Given the description of an element on the screen output the (x, y) to click on. 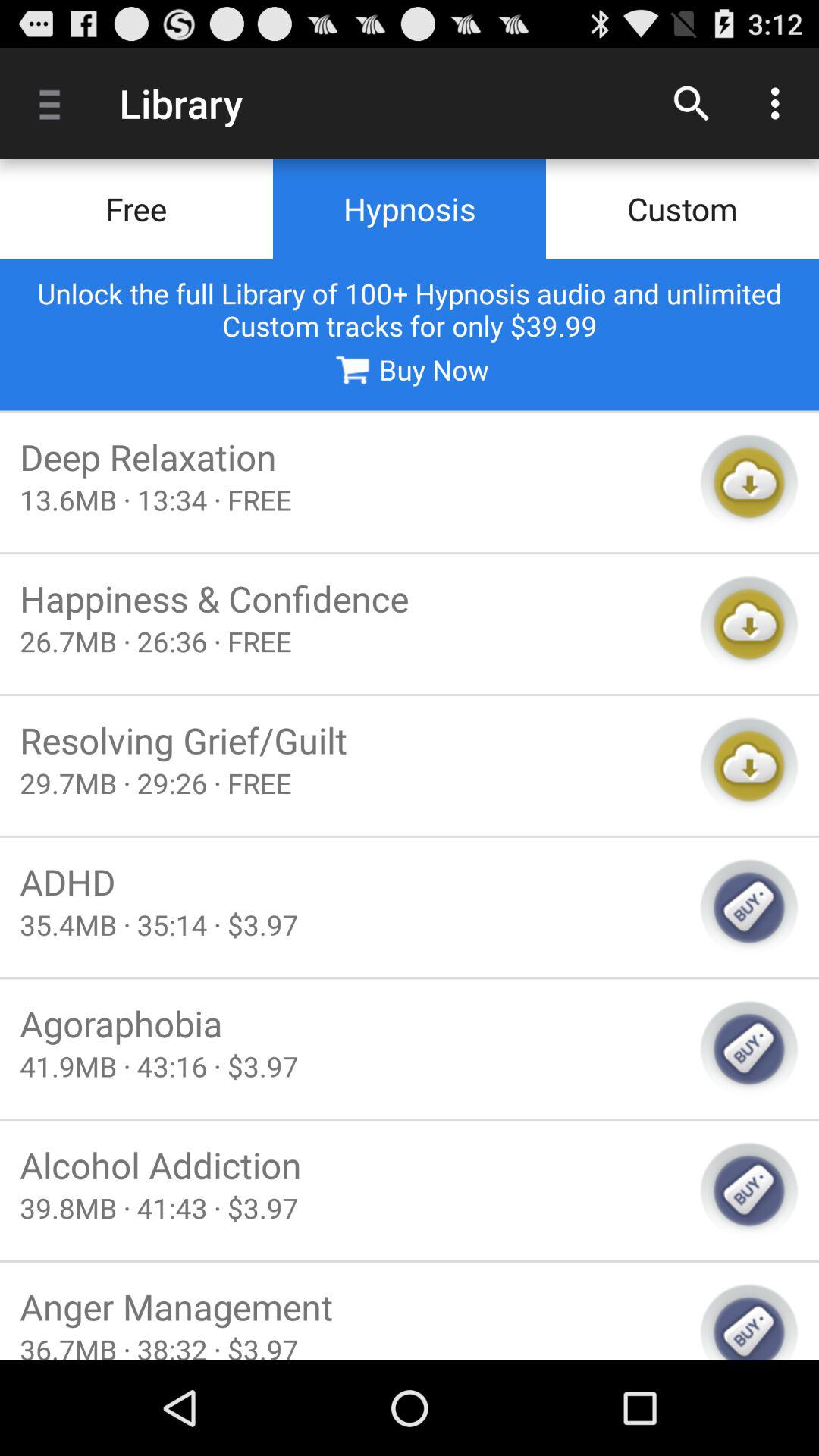
choose the icon above 29 7mb 29 icon (349, 740)
